Given the description of an element on the screen output the (x, y) to click on. 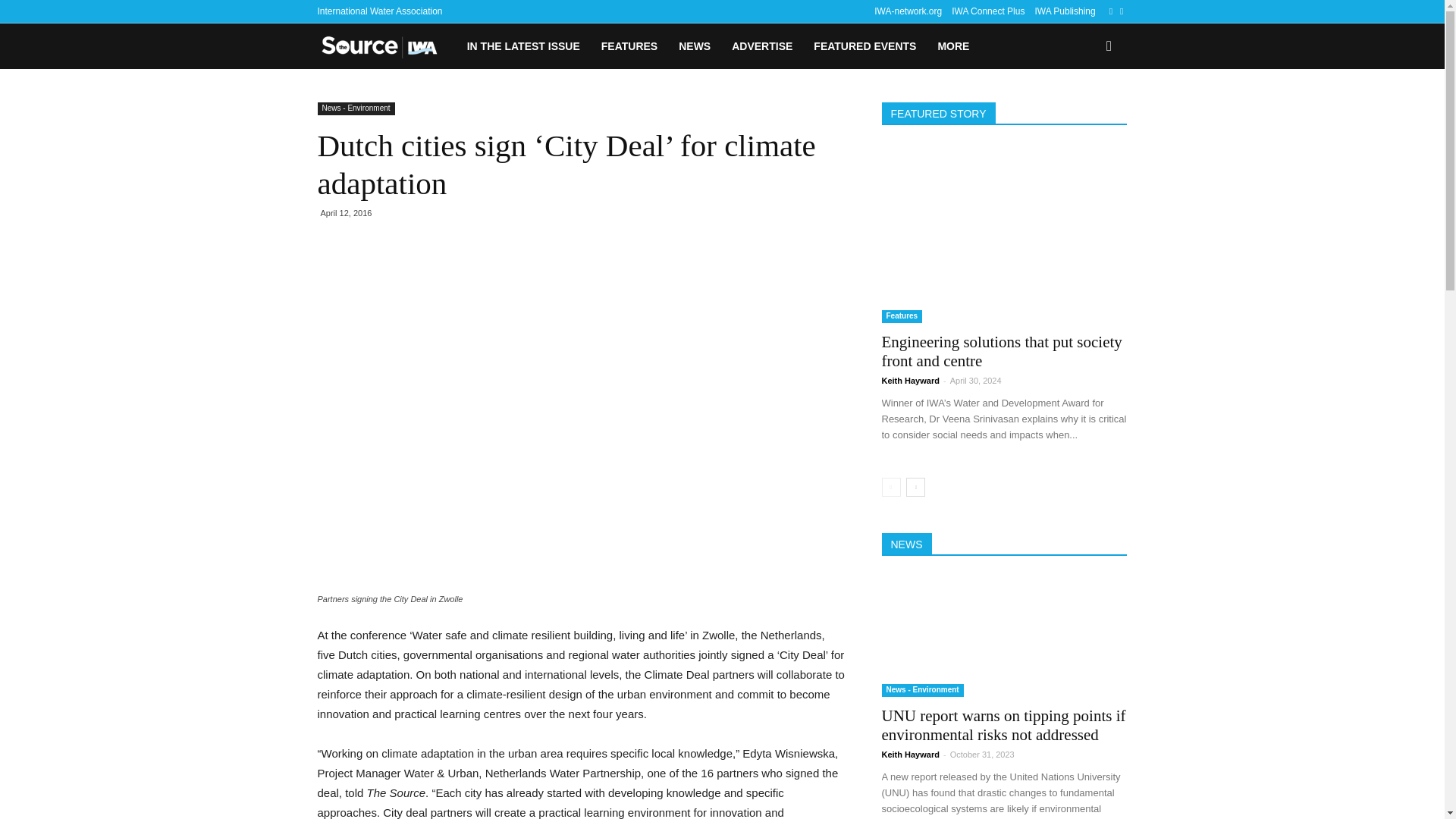
The Source (386, 46)
Engineering solutions that put society front and centre (1003, 233)
ADVERTISE (761, 45)
IWA Publishing (1063, 11)
NEWS (694, 45)
IWA Connect Plus (988, 11)
IN THE LATEST ISSUE (524, 45)
IWA-network.org (908, 11)
FEATURES (629, 45)
